Given the description of an element on the screen output the (x, y) to click on. 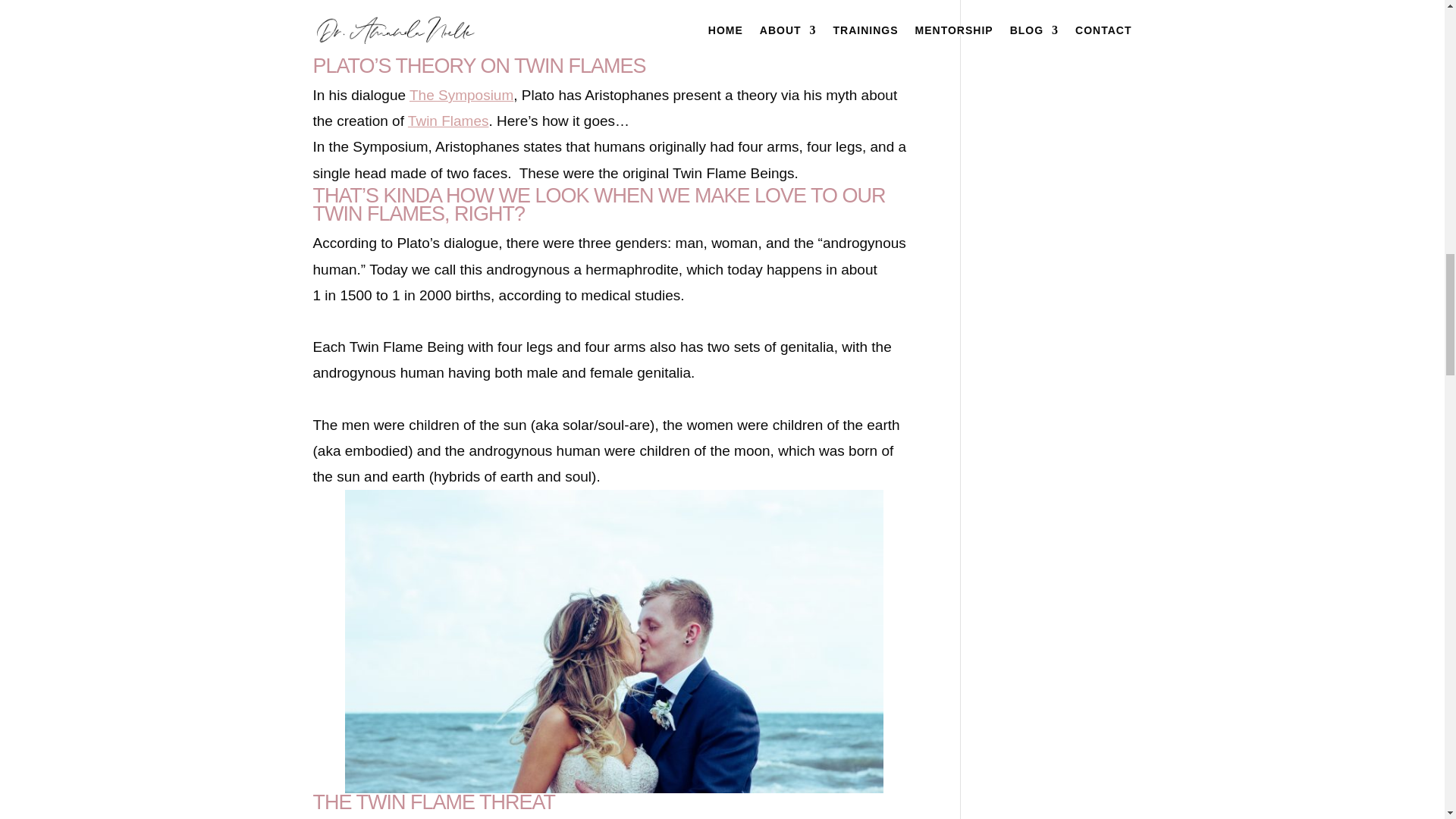
The Symposium (461, 94)
Twin Flames (448, 120)
